Given the description of an element on the screen output the (x, y) to click on. 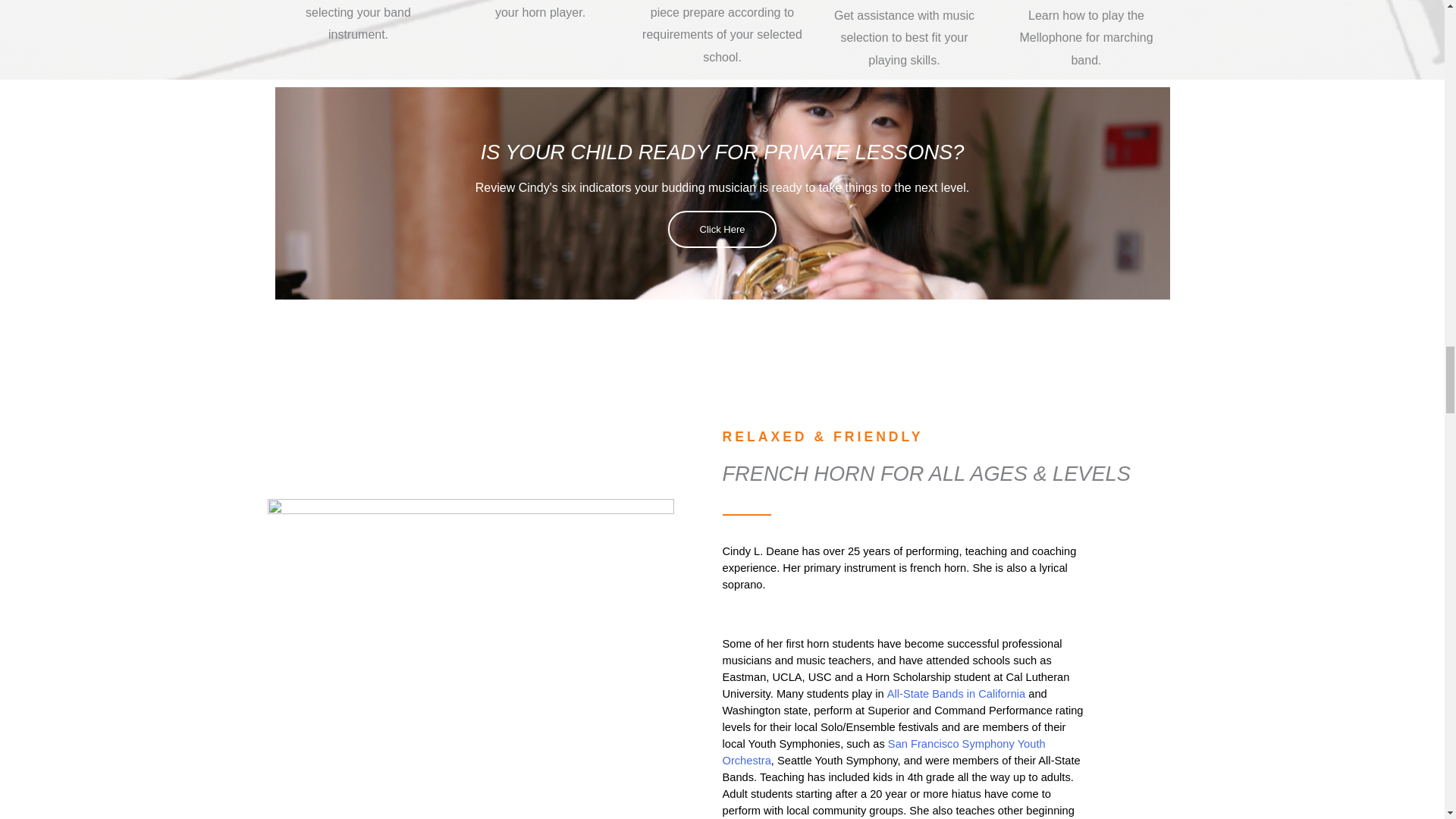
San Francisco Symphony Youth Orchestra (885, 751)
Click Here (722, 229)
All-State Bands in California (955, 693)
